Given the description of an element on the screen output the (x, y) to click on. 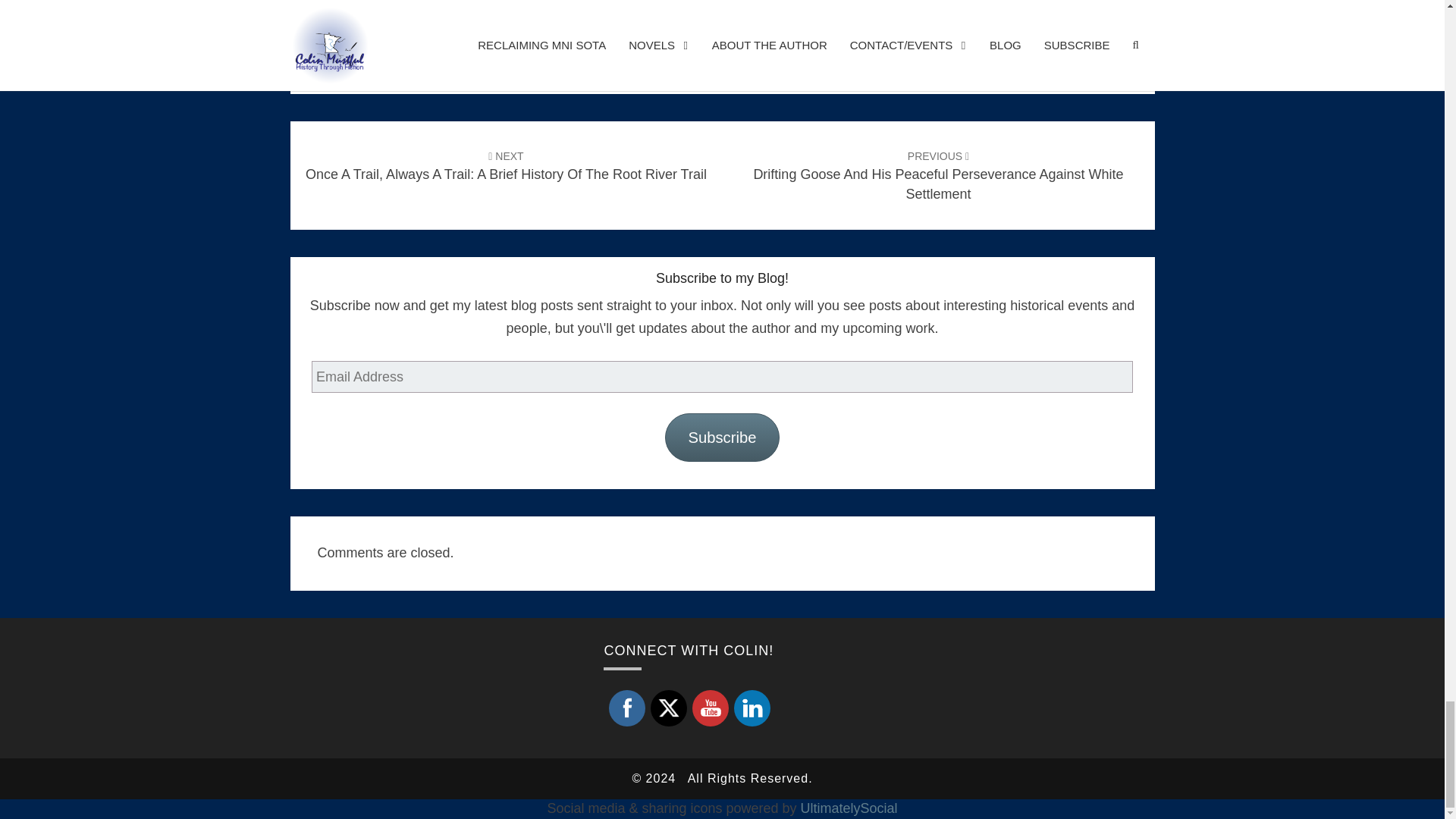
LinkedIn (751, 707)
Facebook (627, 707)
Twitter (668, 708)
YouTube (710, 707)
